Given the description of an element on the screen output the (x, y) to click on. 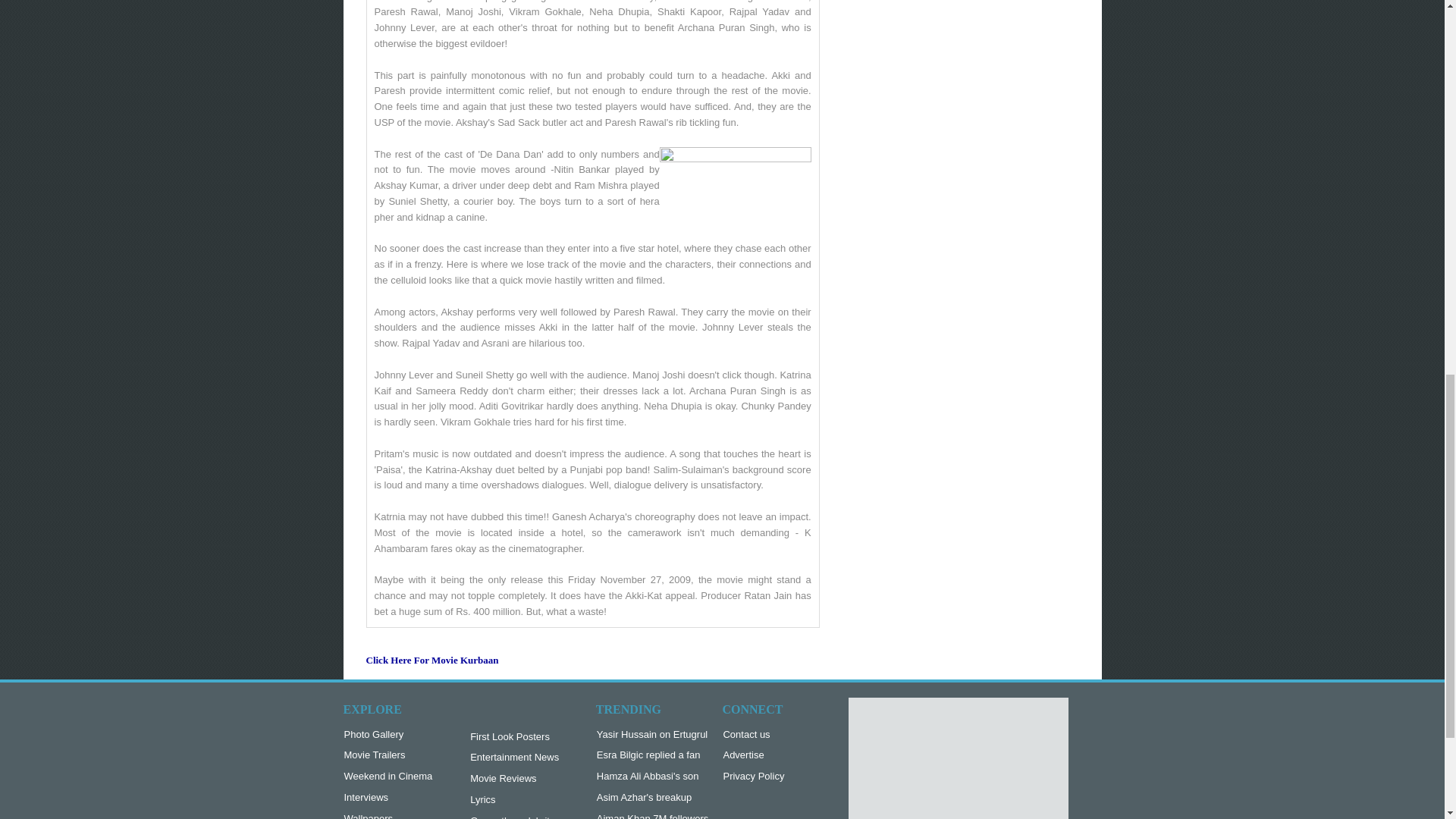
First Look Posters (514, 737)
Interviews (387, 797)
Entertainment News (514, 757)
Lyrics (514, 800)
Wallpapers (387, 815)
Movie Reviews (514, 779)
Click Here For Movie Kurbaan (431, 665)
Movie Trailers (387, 755)
Weekend in Cinema (387, 776)
Photo Gallery (387, 734)
